Given the description of an element on the screen output the (x, y) to click on. 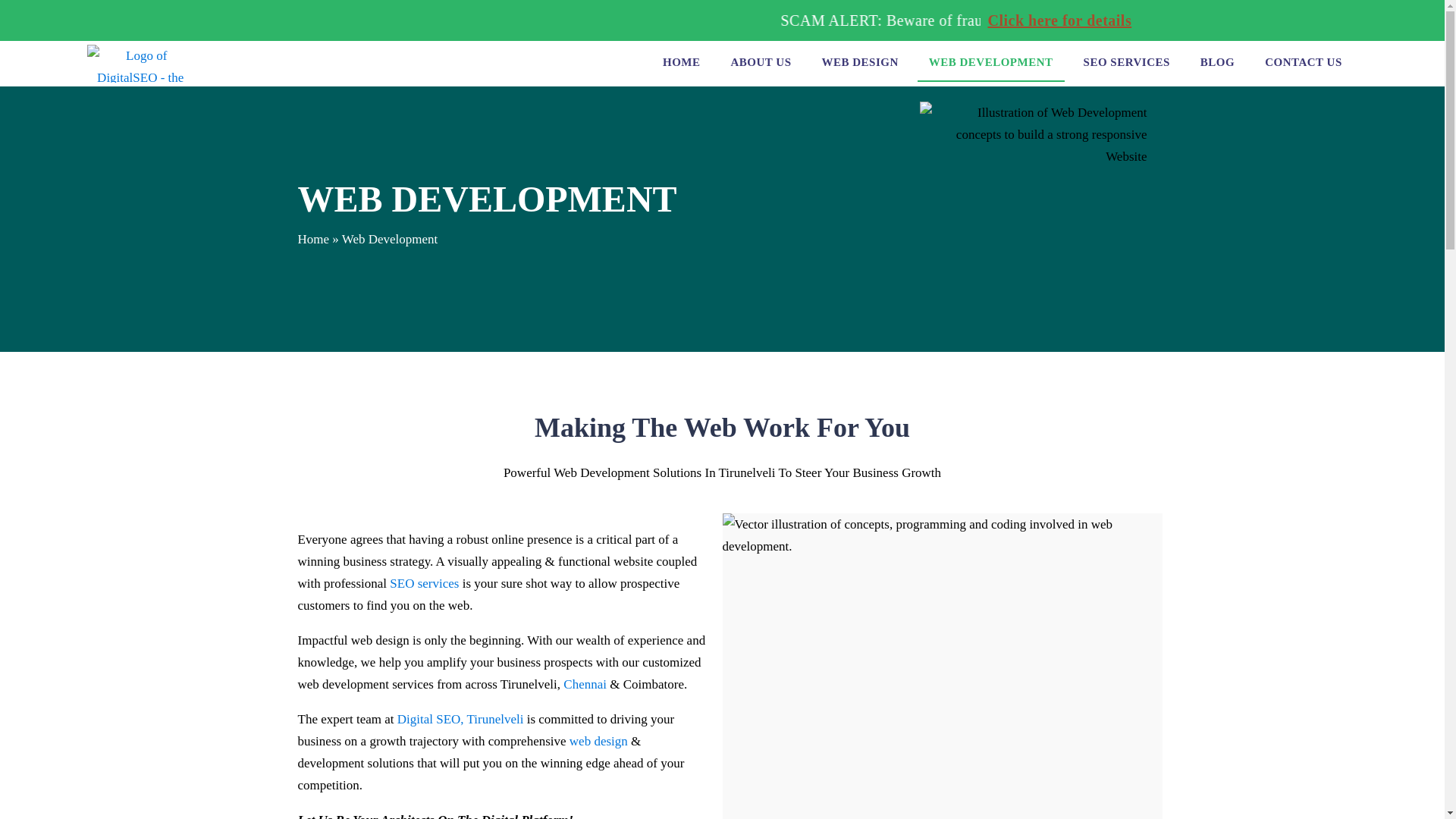
WEB DEVELOPMENT (990, 63)
Chennai (585, 684)
Home (313, 238)
CONTACT US (1303, 63)
HOME (680, 63)
SEO SERVICES (1125, 63)
WEB DESIGN (858, 63)
Digital SEO, Tirunelveli (460, 718)
web design (598, 740)
Click here for details (1081, 20)
ABOUT US (760, 63)
BLOG (1217, 63)
SEO services (424, 583)
